Given the description of an element on the screen output the (x, y) to click on. 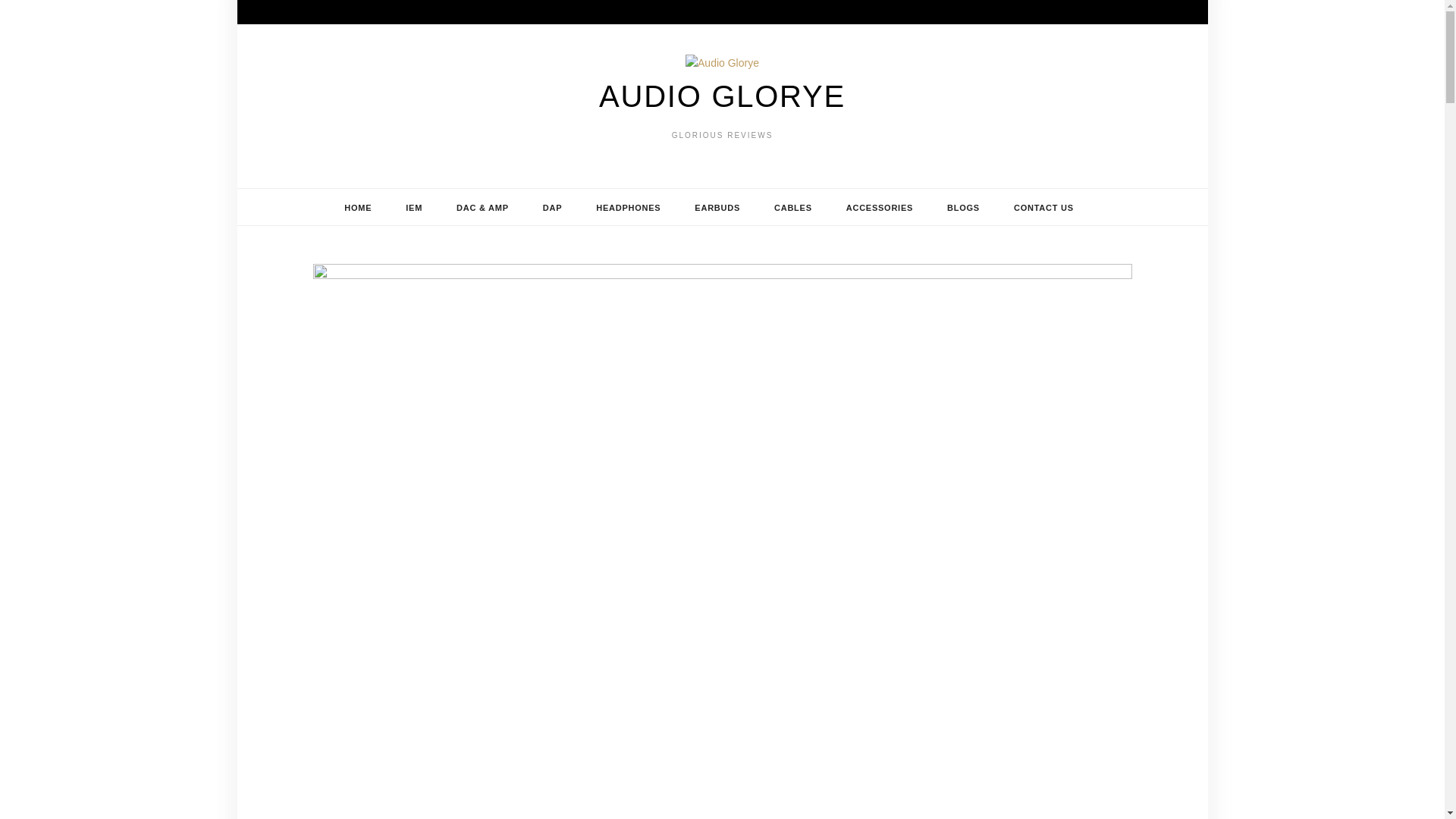
CABLES (792, 207)
HEADPHONES (627, 207)
AUDIO GLORYE (721, 96)
ACCESSORIES (880, 207)
HOME (357, 207)
EARBUDS (717, 207)
CONTACT US (1043, 207)
BLOGS (963, 207)
